Given the description of an element on the screen output the (x, y) to click on. 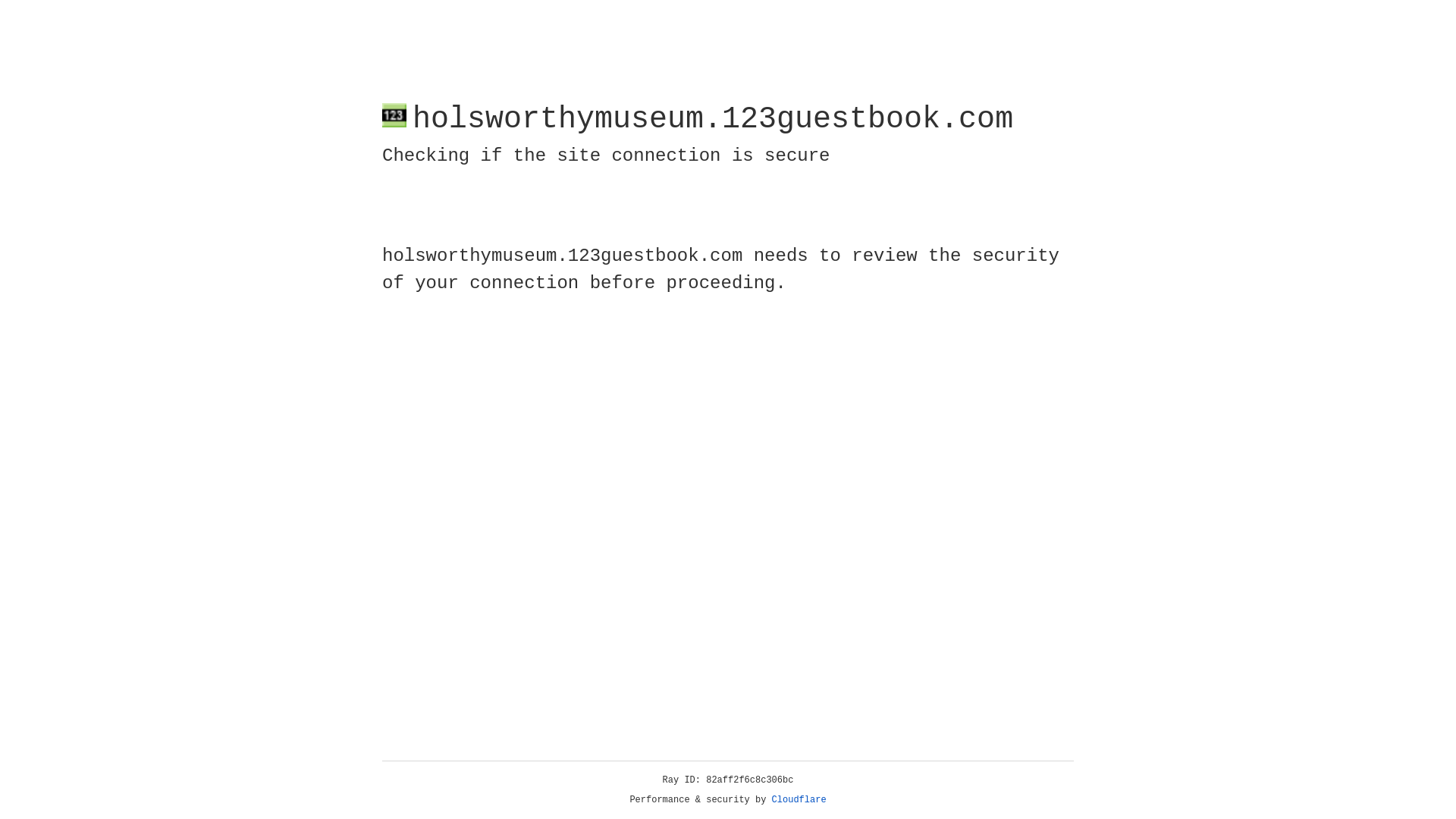
Cloudflare Element type: text (798, 799)
